Given the description of an element on the screen output the (x, y) to click on. 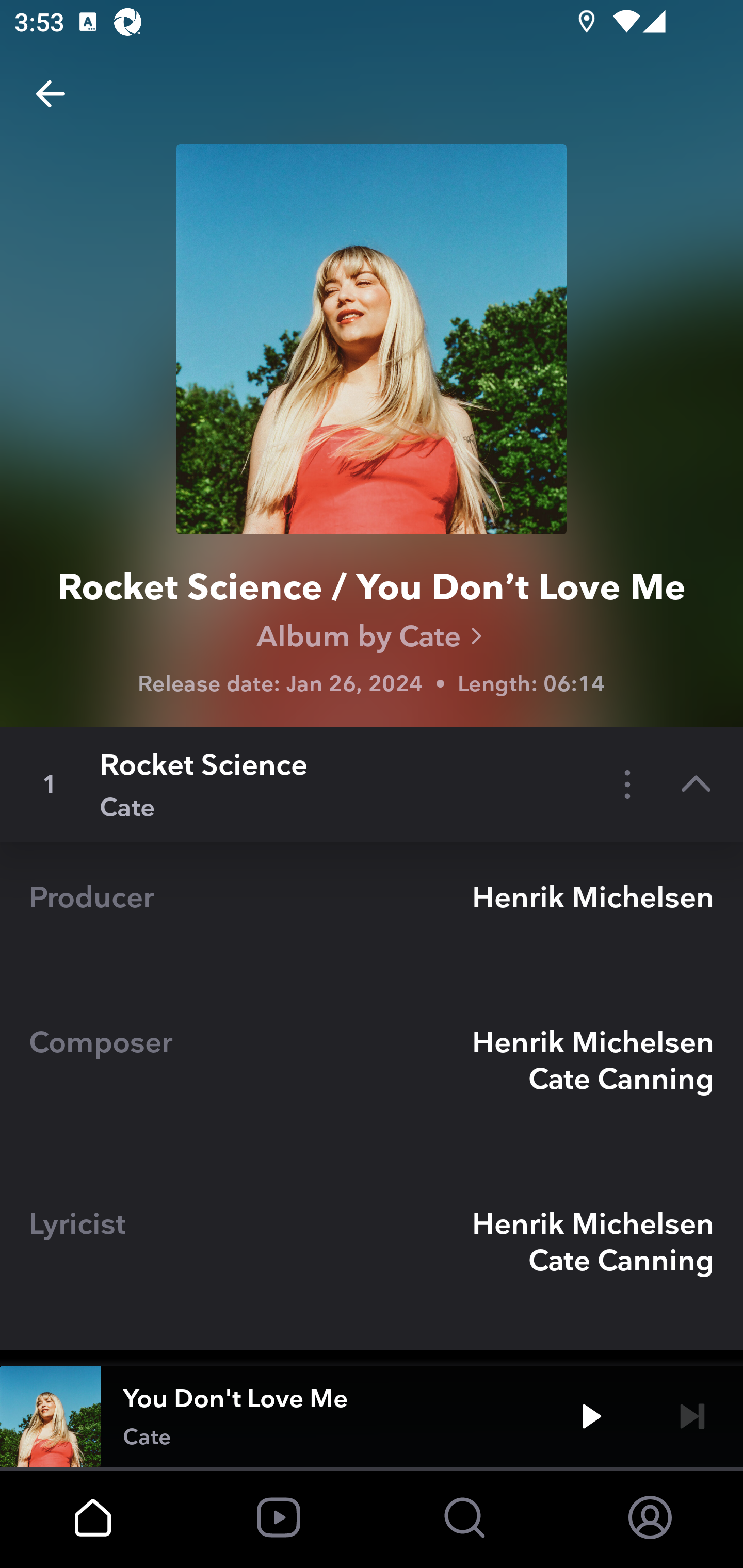
Back (50, 93)
Rocket Science / You Don’t Love Me (371, 589)
Album by Cate (371, 636)
1 Rocket Science Cate (371, 783)
Producer Henrik Michelsen
 (371, 914)
Composer Henrik Michelsen
Cate Canning
 (371, 1077)
Lyricist Henrik Michelsen
Cate Canning
 (371, 1259)
You Don't Love Me Cate Play (371, 1416)
Play (590, 1416)
